Given the description of an element on the screen output the (x, y) to click on. 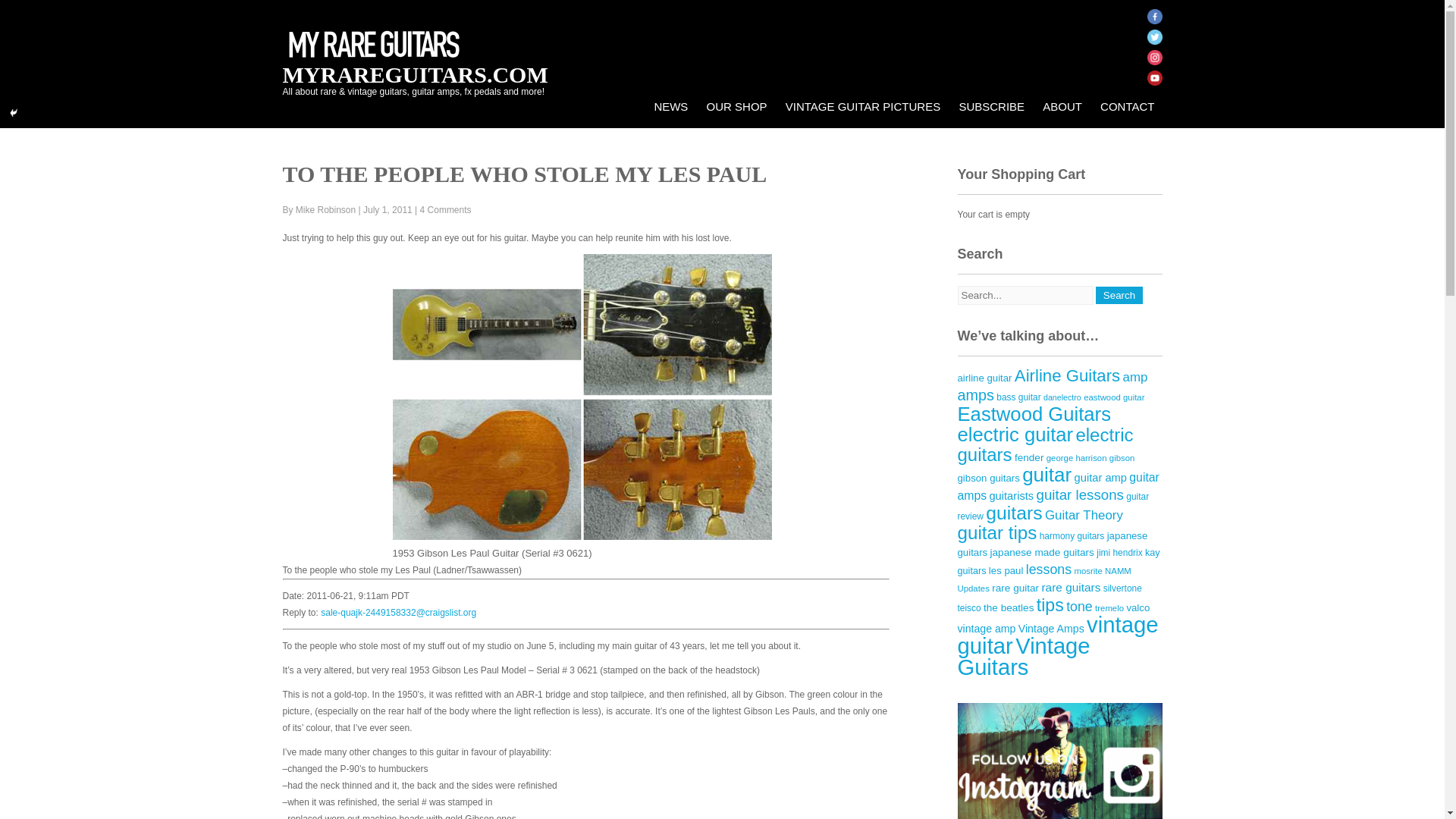
4 Comments (445, 209)
OUR SHOP (736, 106)
Hide (13, 112)
Search (1119, 294)
SUBSCRIBE (991, 106)
Search (1119, 294)
Search (1119, 294)
NEWS (670, 106)
ABOUT (1062, 106)
VINTAGE GUITAR PICTURES (862, 106)
CONTACT (1127, 106)
MYRAREGUITARS.COM (414, 74)
